Given the description of an element on the screen output the (x, y) to click on. 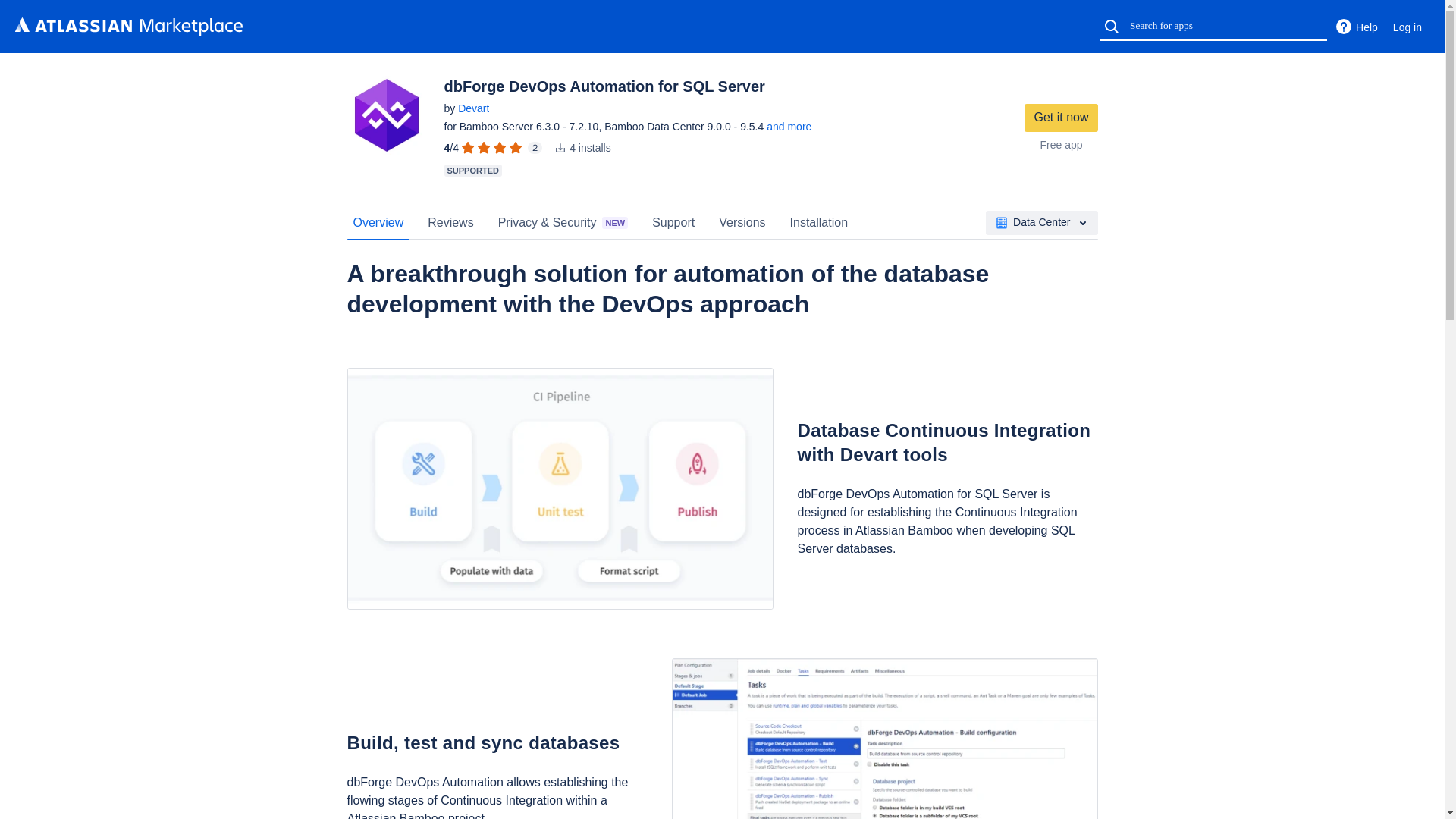
Data Center (1041, 222)
and more (788, 126)
Atlassian Marketplace (128, 26)
Log in (1407, 26)
Get it now (1061, 117)
Devart (473, 108)
View version history for more details (788, 126)
Help (1356, 26)
